Given the description of an element on the screen output the (x, y) to click on. 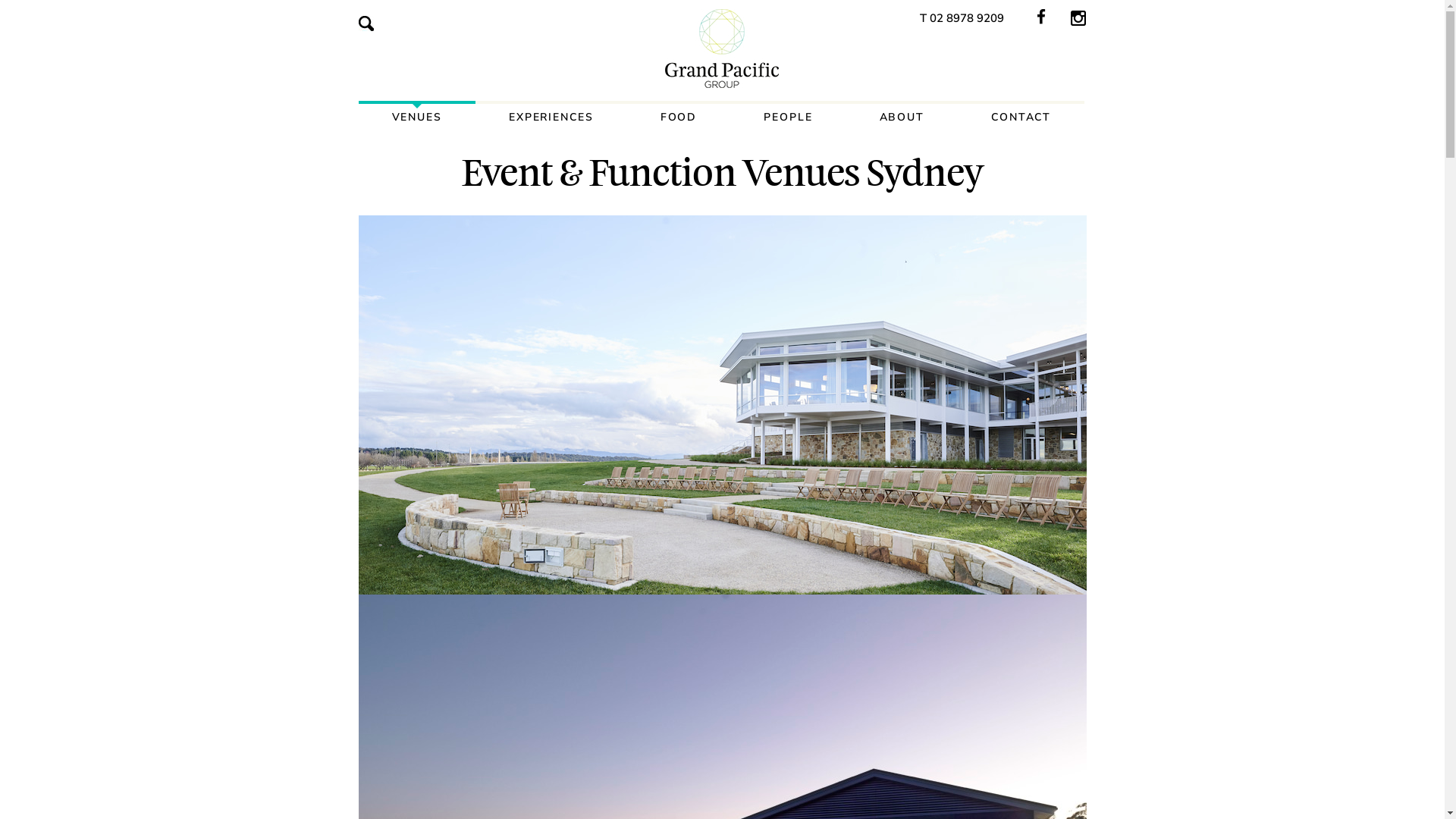
T 02 8978 9209 Element type: text (961, 18)
EXPERIENCES Element type: text (551, 117)
SEND Element type: text (653, 776)
ABOUT Element type: text (901, 117)
FOOD Element type: text (679, 117)
PEOPLE Element type: text (787, 117)
CONTACT Element type: text (1020, 117)
VENUES Element type: text (415, 117)
SEND Element type: text (653, 542)
